Given the description of an element on the screen output the (x, y) to click on. 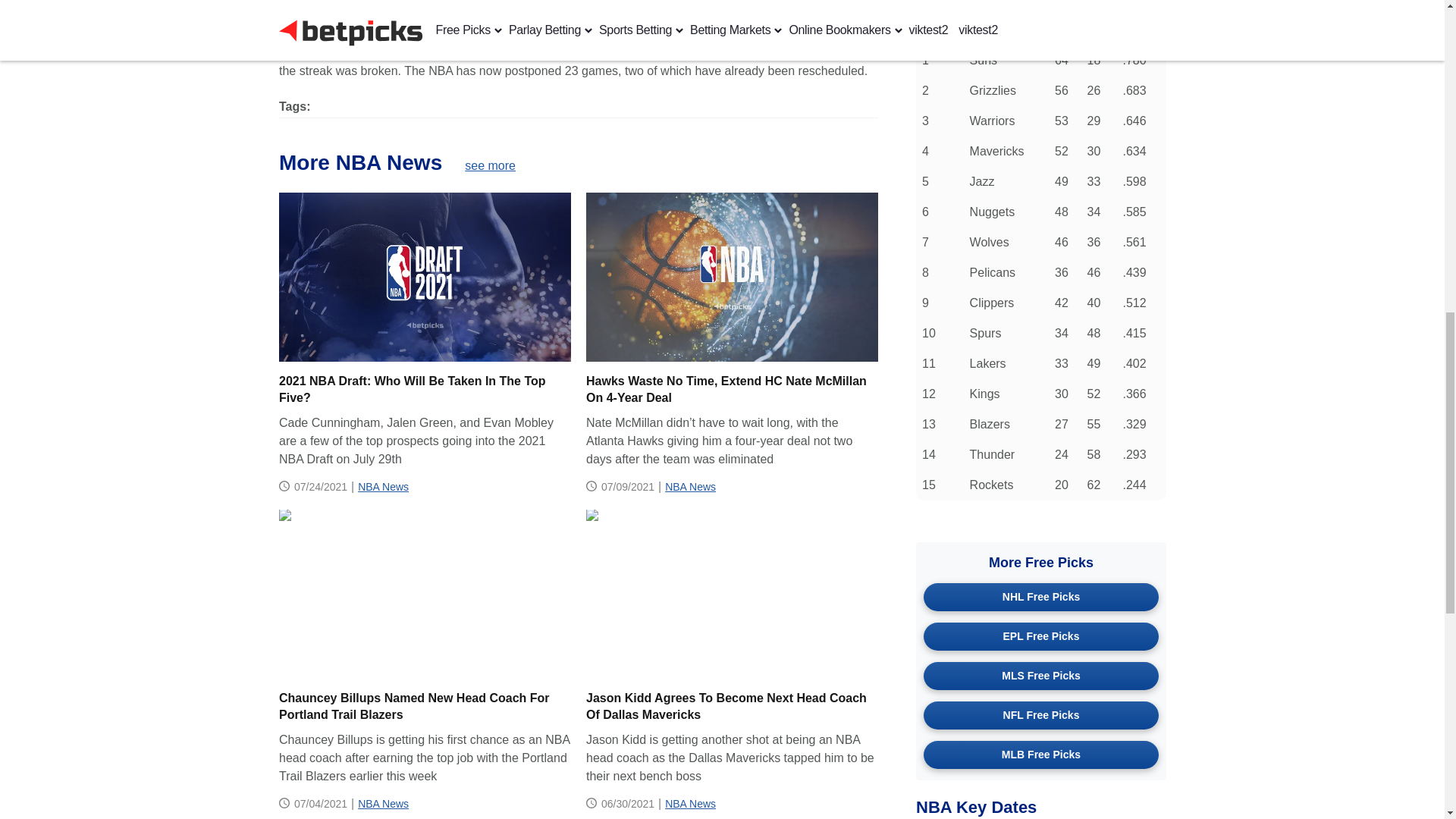
NBA 2020-21 (731, 276)
NBA 2020-21 (424, 593)
NBA Draft 2021 (424, 276)
NBA 2020-21 (731, 593)
